Given the description of an element on the screen output the (x, y) to click on. 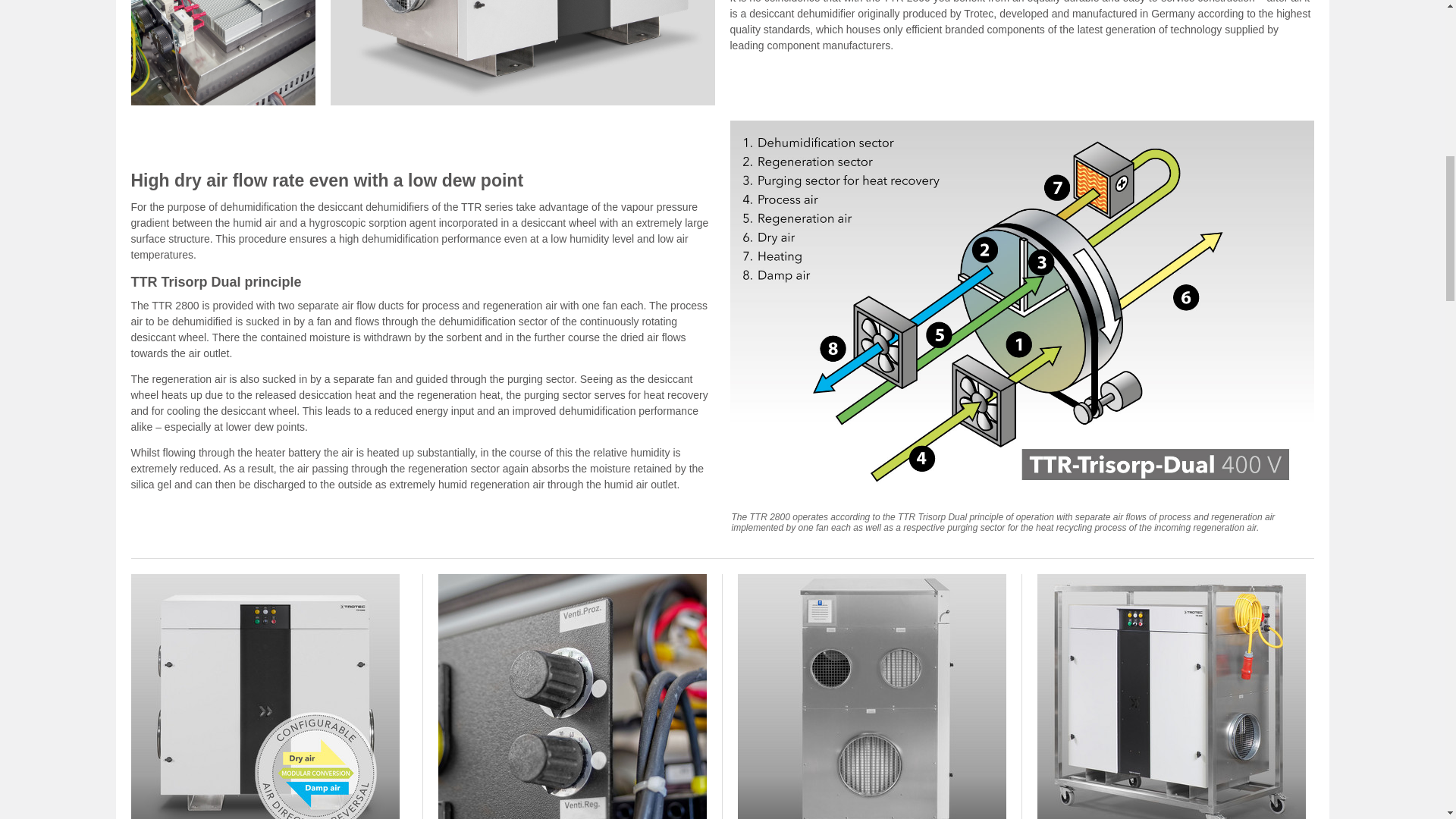
Duoventic air volume regulation (572, 696)
Configurable air direction reversal (264, 696)
